Given the description of an element on the screen output the (x, y) to click on. 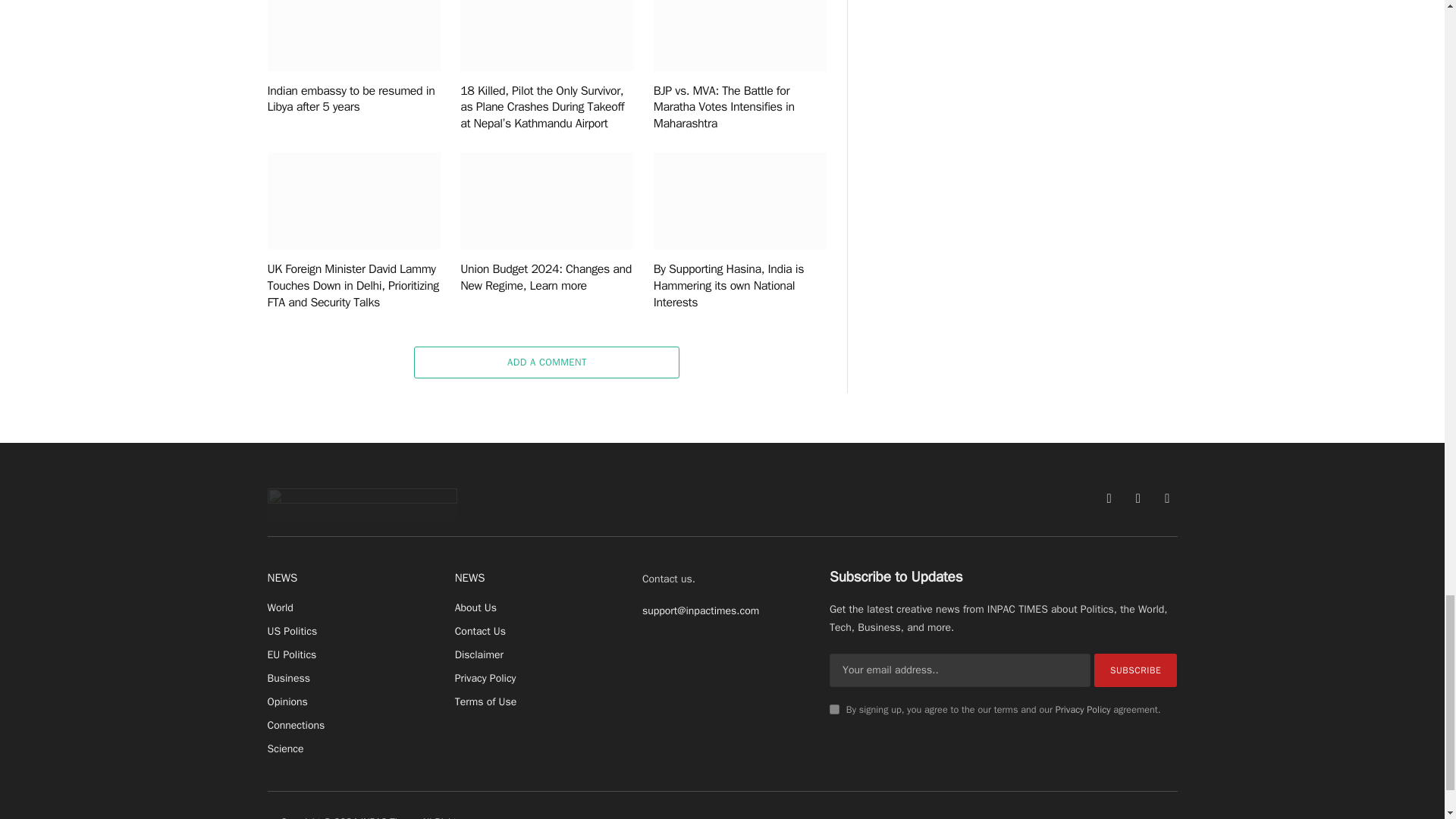
Subscribe (1135, 670)
on (834, 709)
